Given the description of an element on the screen output the (x, y) to click on. 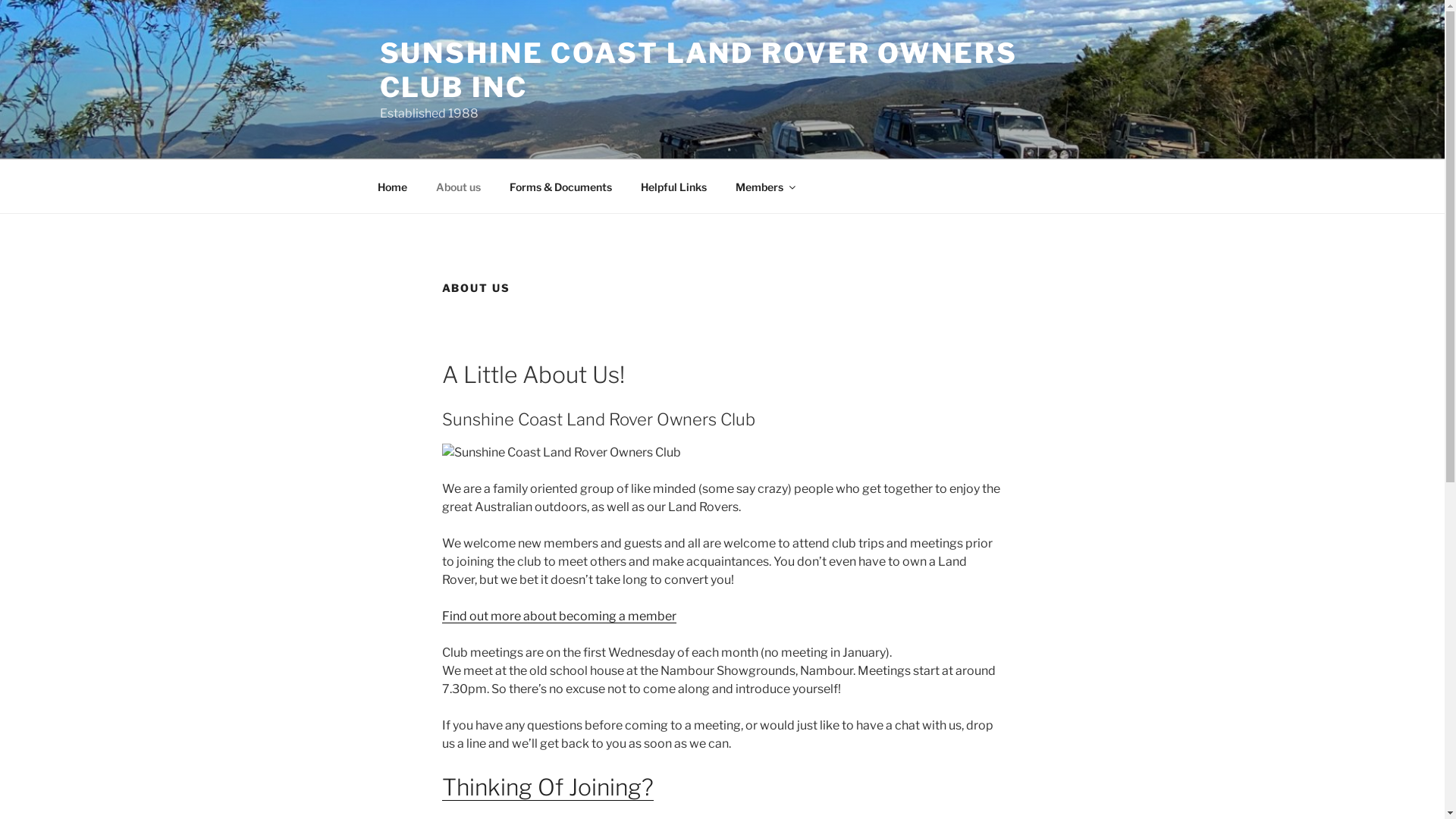
Forms & Documents Element type: text (559, 186)
Find out more about becoming a member Element type: text (558, 615)
Members Element type: text (763, 186)
Skip to content Element type: text (0, 0)
Helpful Links Element type: text (673, 186)
Thinking Of Joining? Element type: text (546, 786)
Home Element type: text (392, 186)
Sunshine Coast Land Rover Owners Club Element type: hover (560, 452)
About us Element type: text (458, 186)
SUNSHINE COAST LAND ROVER OWNERS CLUB INC Element type: text (697, 69)
